Given the description of an element on the screen output the (x, y) to click on. 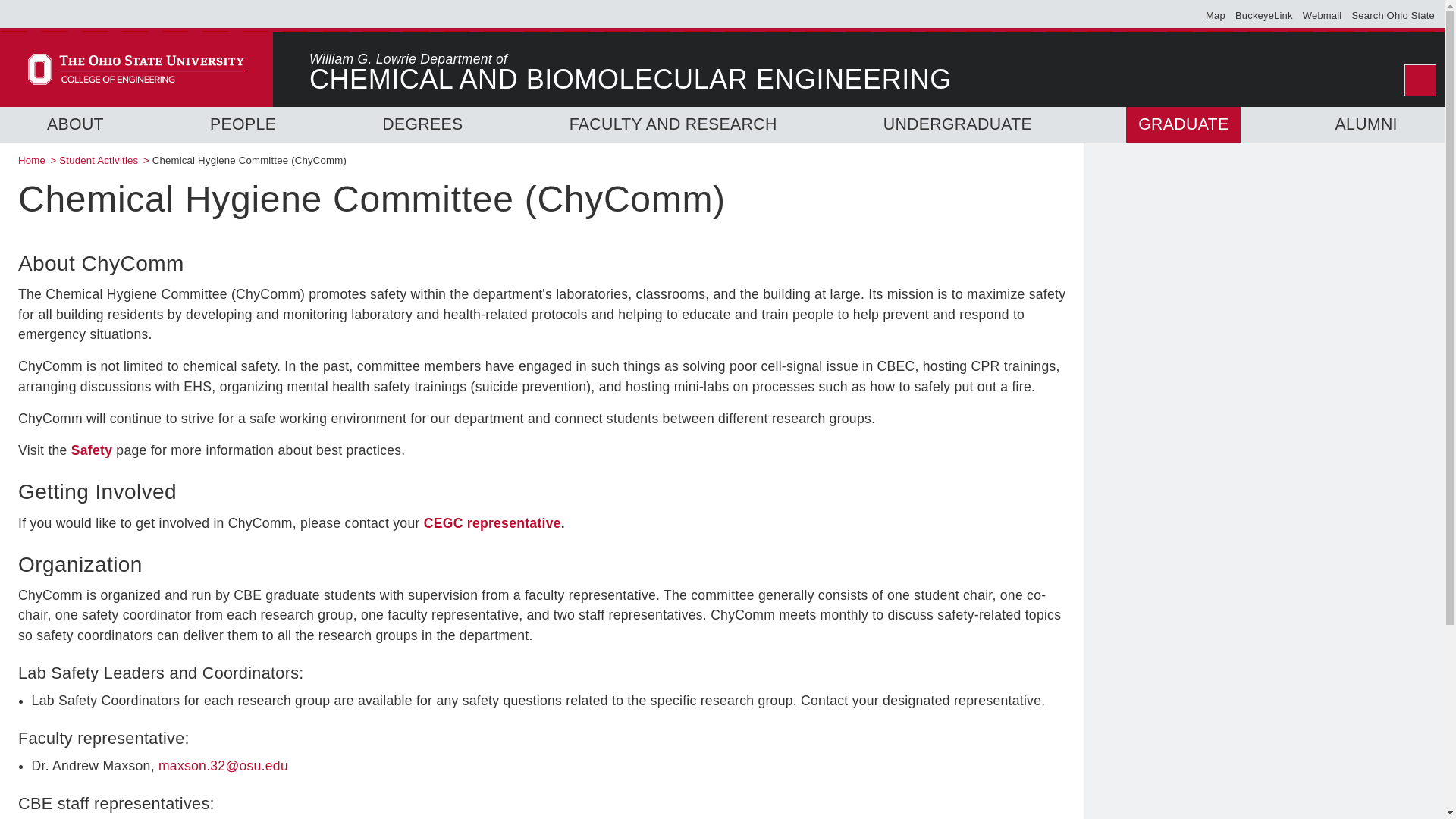
Open search form (1420, 80)
ABOUT (74, 124)
Search Ohio State (1392, 15)
The Ohio State University (51, 15)
Webmail (1322, 15)
Map (1215, 15)
BuckeyeLink (1263, 15)
